Given the description of an element on the screen output the (x, y) to click on. 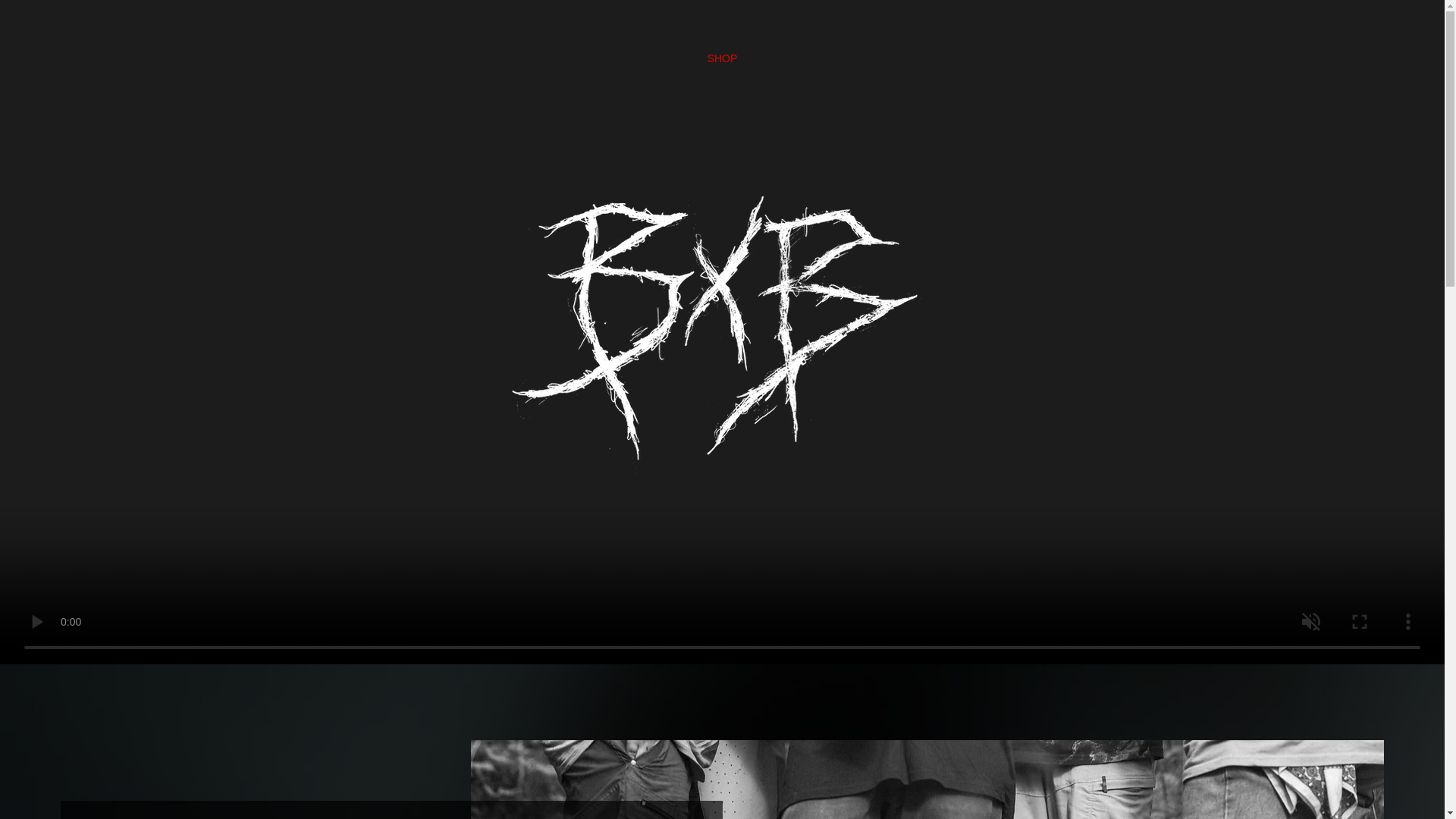
SHOP (721, 57)
